Given the description of an element on the screen output the (x, y) to click on. 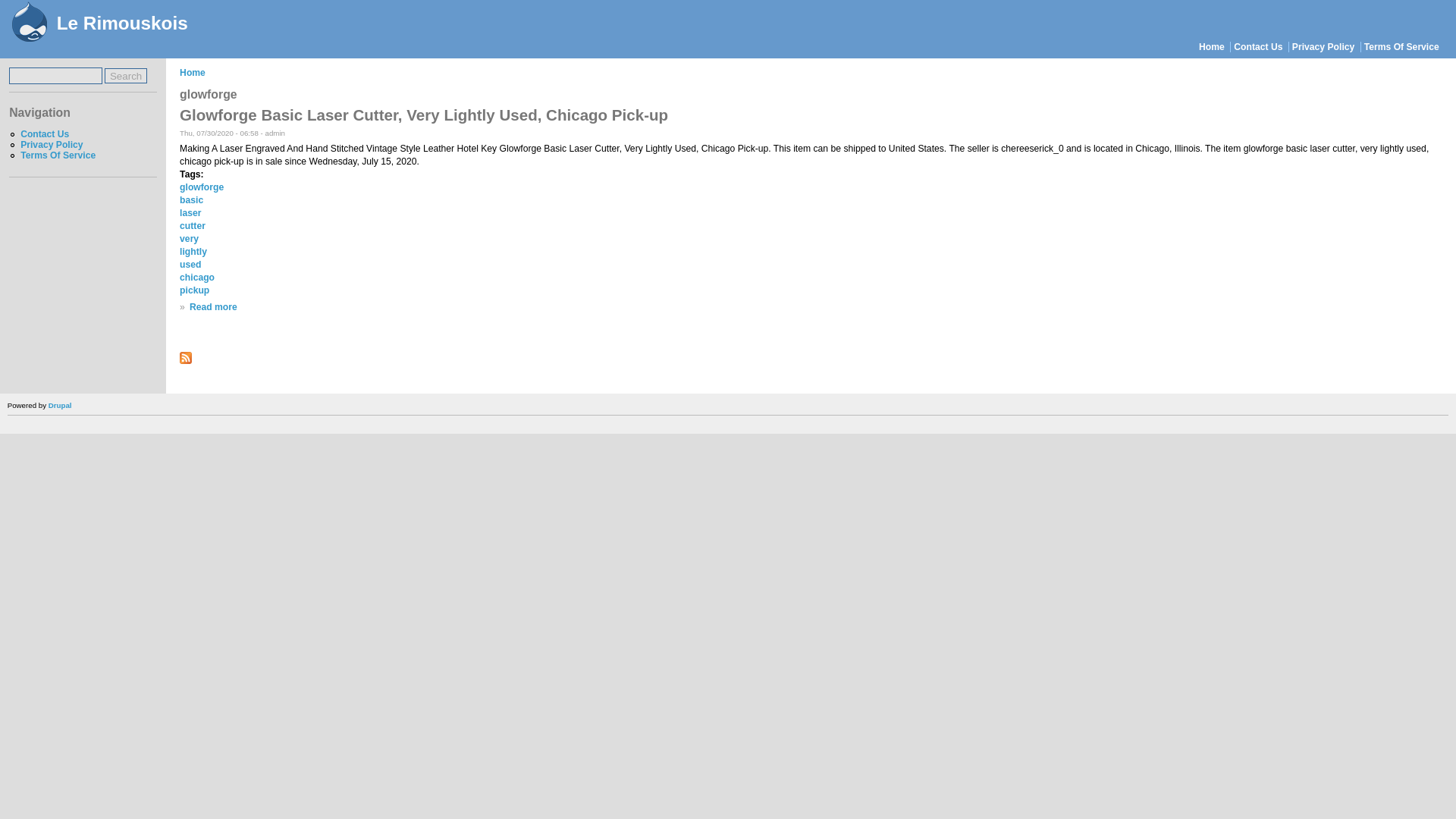
Home (192, 72)
laser (189, 213)
Subscribe to RSS - glowforge (185, 360)
used (189, 264)
Privacy Policy (1323, 46)
Drupal (59, 405)
pickup (194, 290)
Terms Of Service (1401, 46)
cutter (192, 225)
very (188, 238)
Search (125, 75)
Contact Us (44, 133)
